Given the description of an element on the screen output the (x, y) to click on. 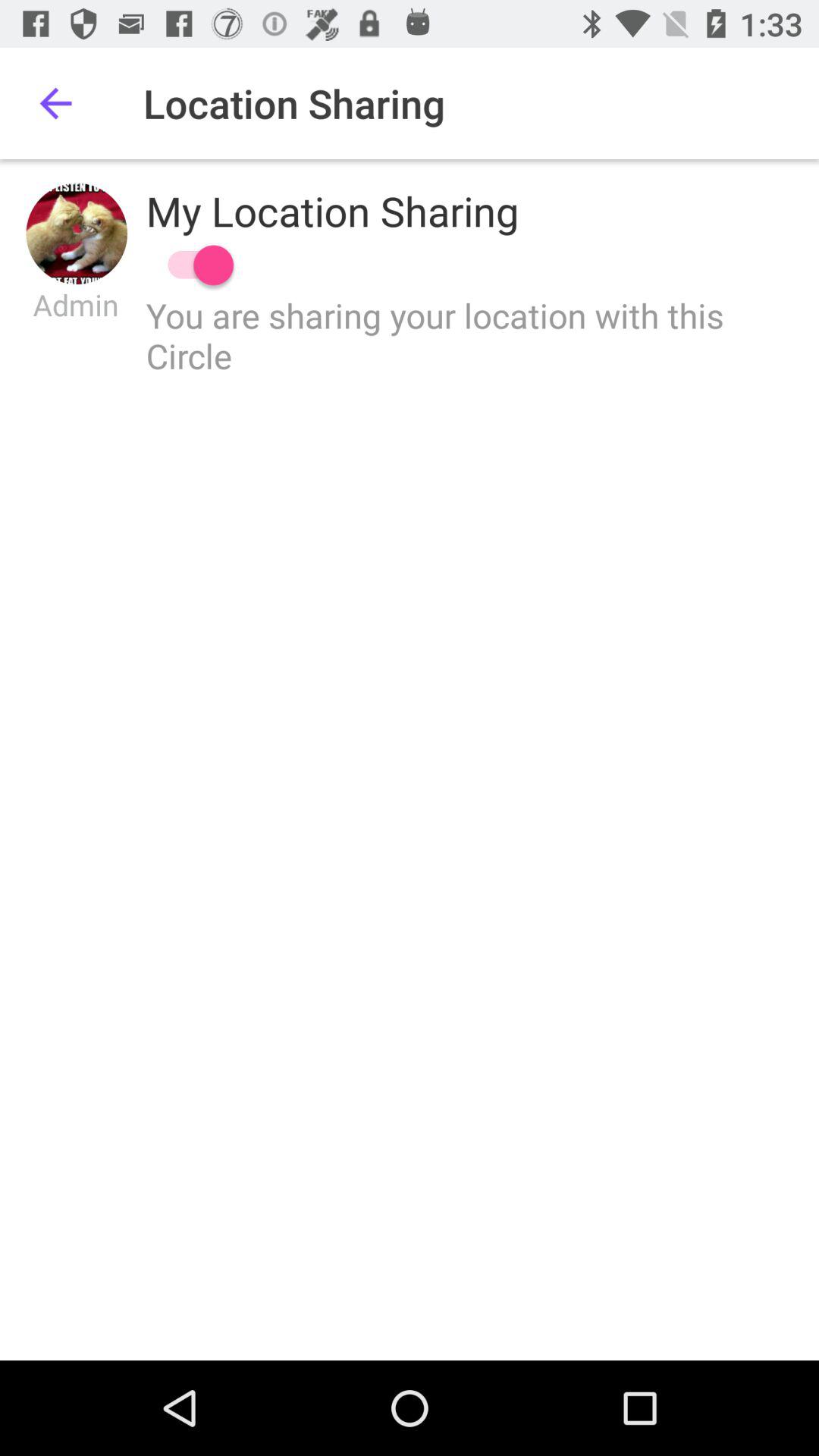
toggle a select option (193, 265)
